Given the description of an element on the screen output the (x, y) to click on. 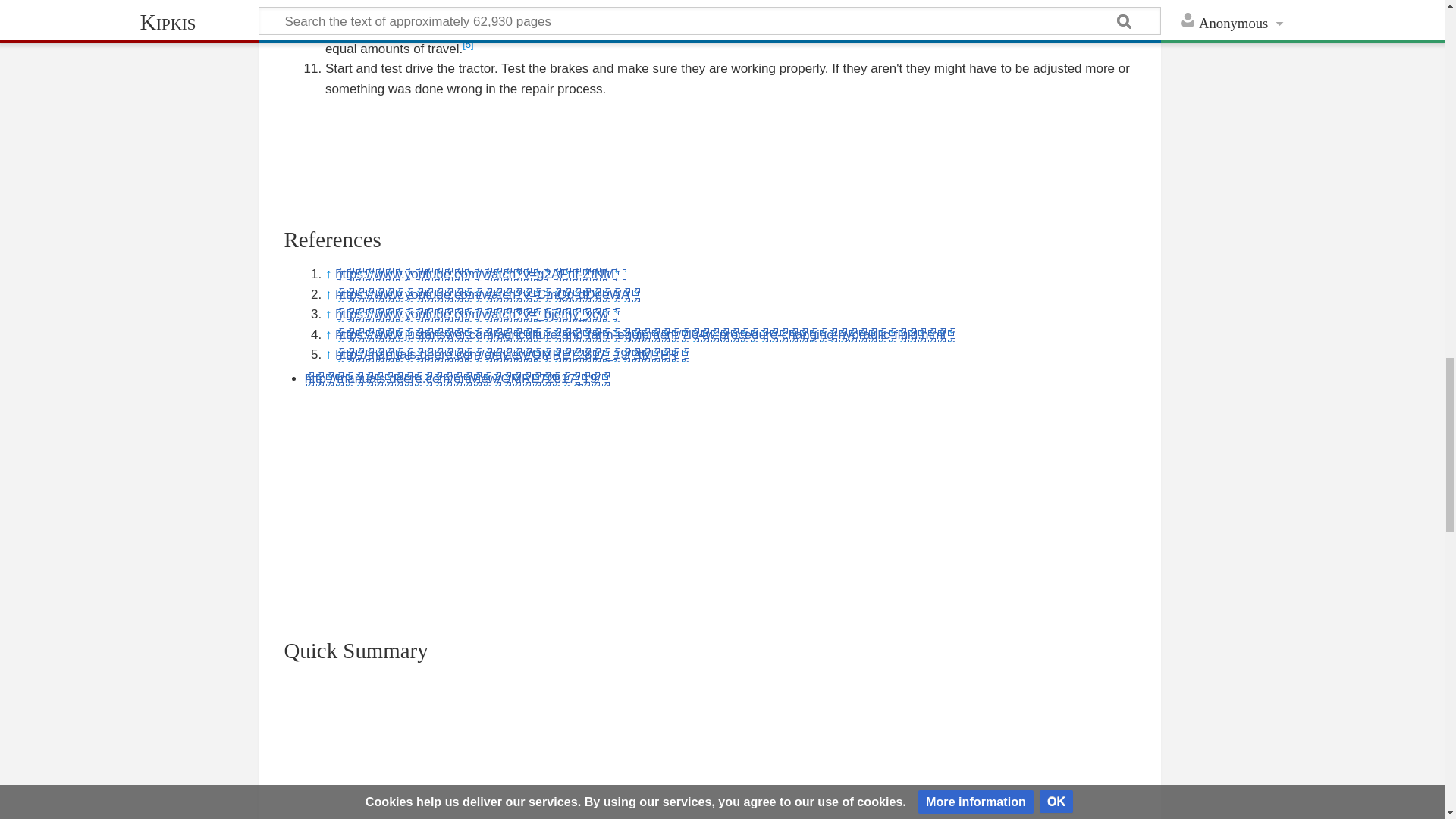
Advertisement (709, 502)
Advertisement (709, 757)
Advertisement (709, 151)
